Given the description of an element on the screen output the (x, y) to click on. 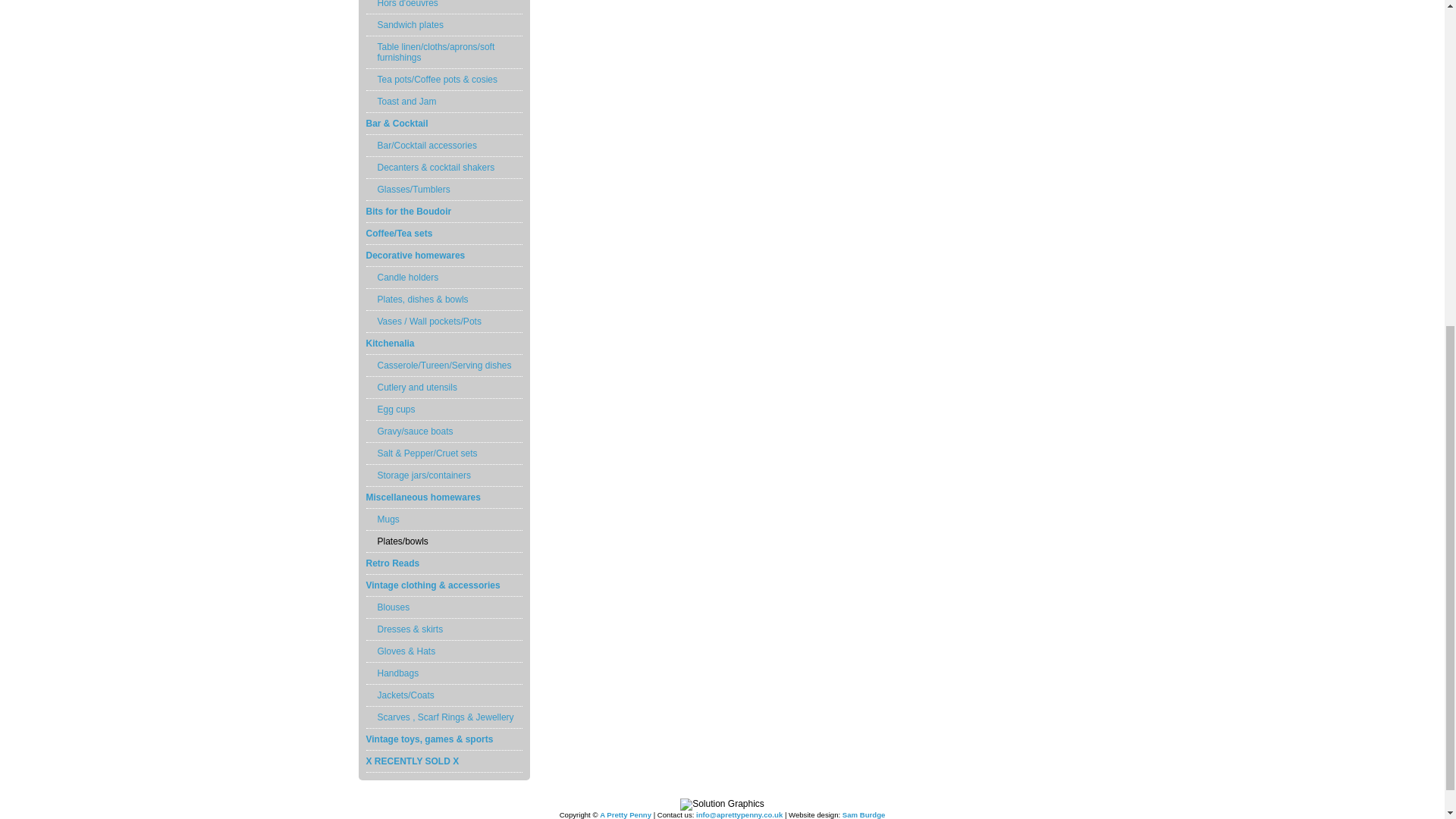
Toast and Jam (443, 101)
Hors d'oeuvres (443, 7)
Sandwich plates (443, 25)
Egg cups (443, 409)
Decorative homewares (443, 255)
Bits for the Boudoir (443, 211)
Kitchenalia (443, 343)
Mugs (443, 519)
Cutlery and utensils (443, 387)
Retro Reads (443, 563)
Candle holders (443, 277)
Miscellaneous homewares (443, 497)
